Given the description of an element on the screen output the (x, y) to click on. 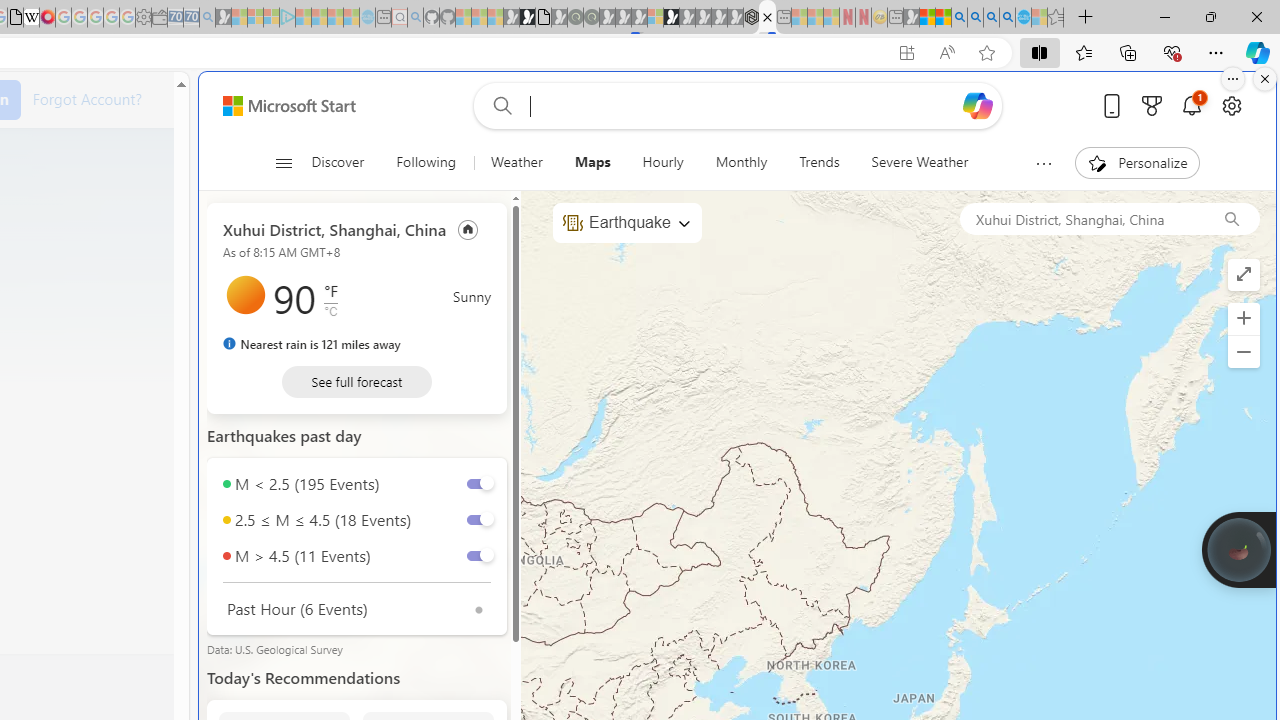
New Tab (1085, 17)
Trends (818, 162)
Read aloud this page (Ctrl+Shift+U) (946, 53)
github - Search - Sleeping (415, 17)
Future Focus Report 2024 - Sleeping (591, 17)
Forgot Account? (87, 97)
Set as primary location (468, 228)
App available. Install  (906, 53)
Collections (1128, 52)
Notifications (1192, 105)
